Given the description of an element on the screen output the (x, y) to click on. 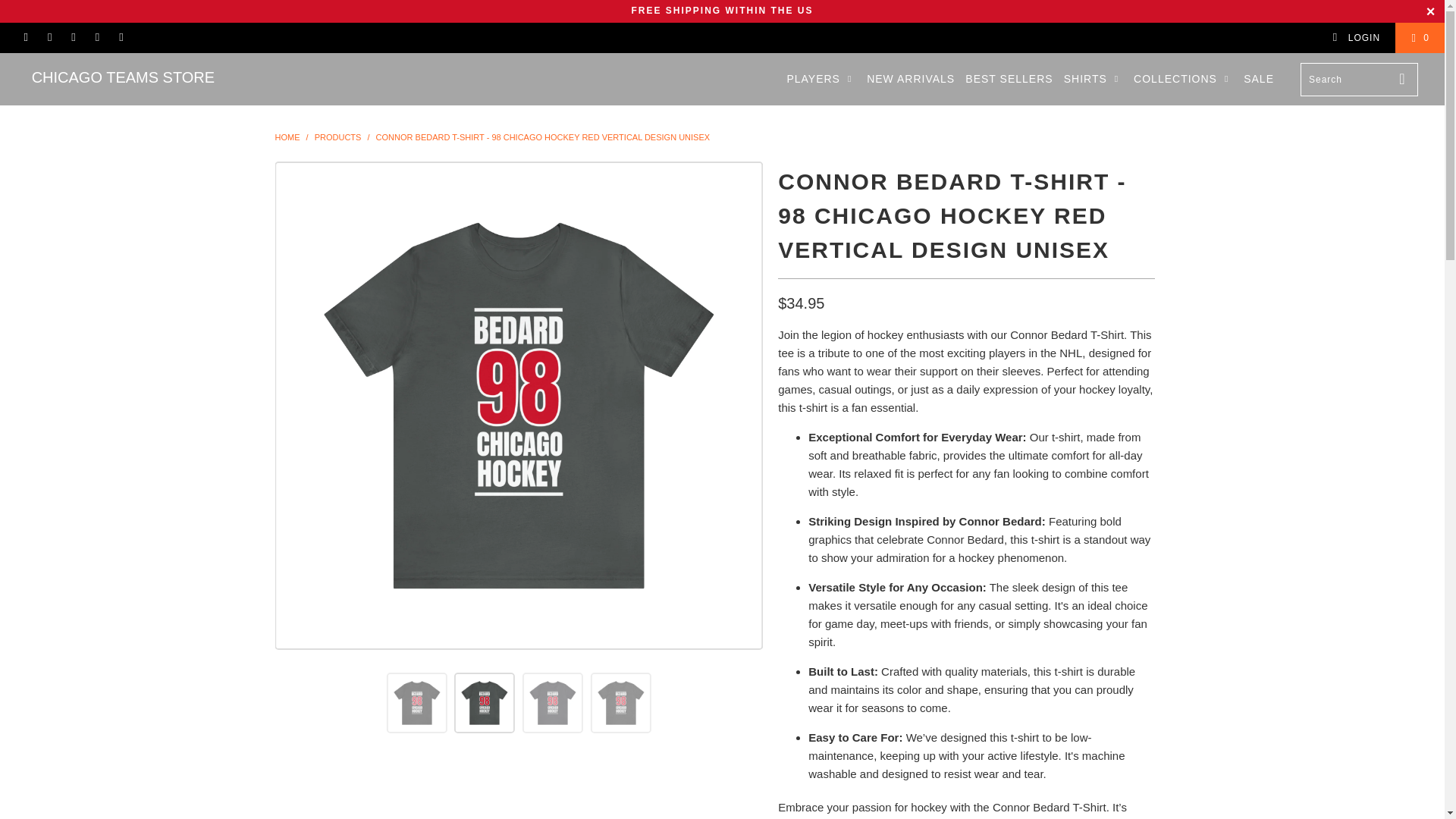
My Account  (1355, 37)
Chicago Teams Store on Pinterest (96, 37)
Chicago Teams Store (122, 76)
Chicago Teams Store on Twitter (73, 37)
Chicago Teams Store (287, 136)
Chicago Teams Store on YouTube (121, 37)
Chicago Teams Store on Facebook (25, 37)
Products (337, 136)
Chicago Teams Store on Instagram (48, 37)
